Given the description of an element on the screen output the (x, y) to click on. 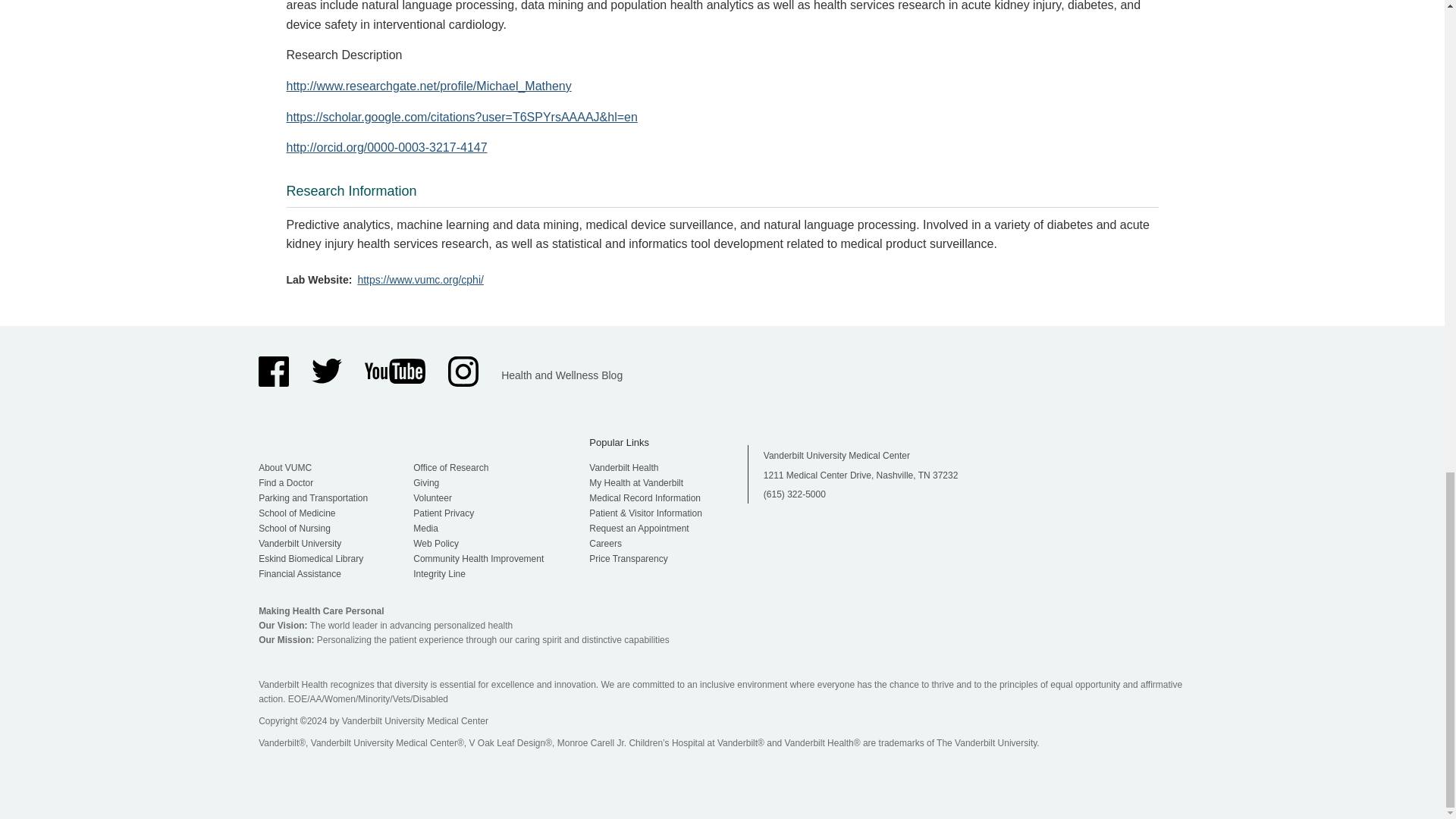
youtube icon (395, 371)
instagram icon (463, 371)
facebook icon (273, 371)
twitter icon (326, 370)
